Given the description of an element on the screen output the (x, y) to click on. 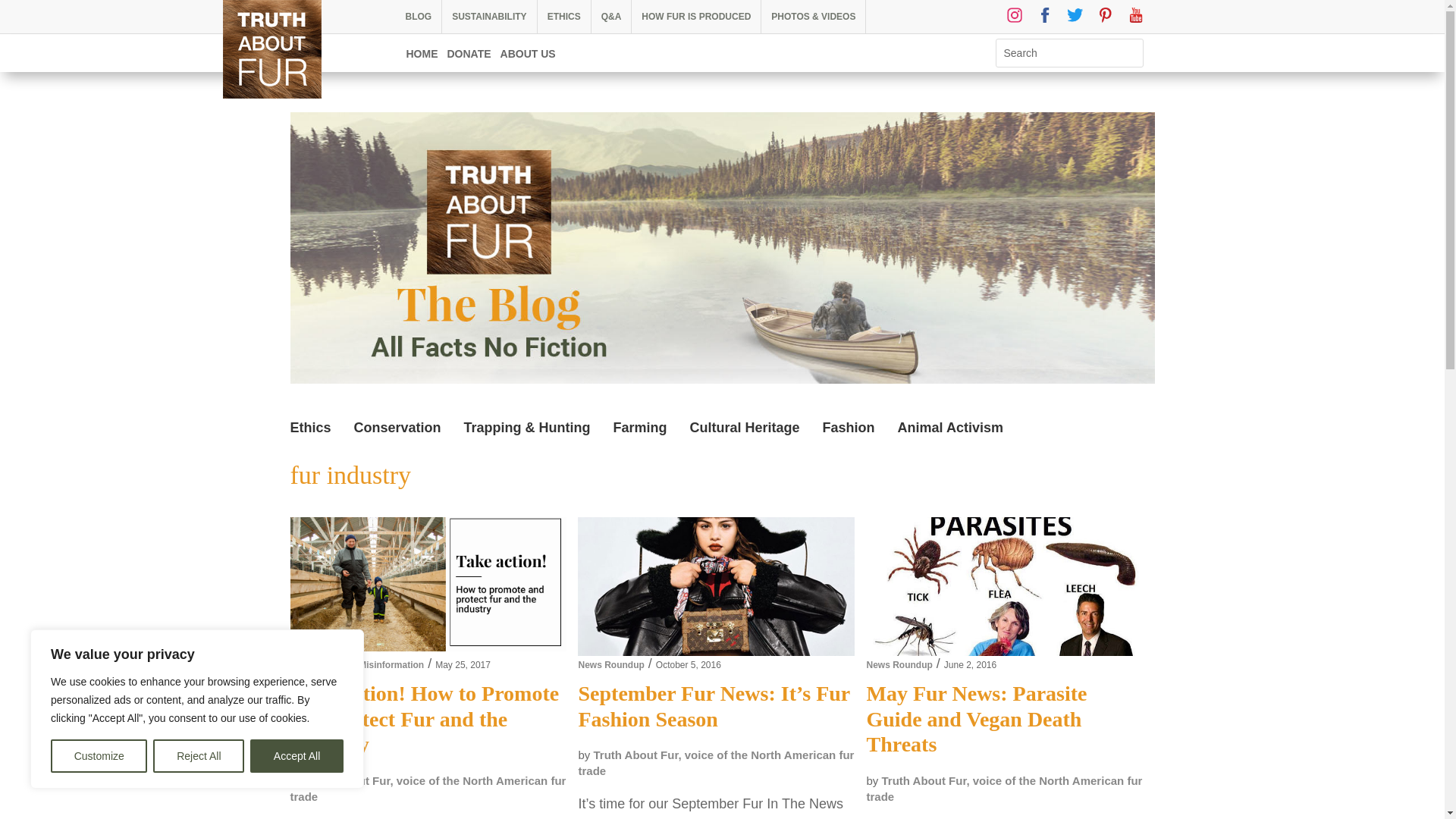
SUSTAINABILITY (488, 16)
truth-about-fur-logo (271, 49)
BLOG (419, 16)
HOW FUR IS PRODUCED (695, 16)
Accept All (296, 756)
Take Action! How to Promote and Protect Fur and the Industry (427, 586)
May Fur News: Parasite Guide and Vegan Death Threats (1004, 585)
Reject All (198, 756)
ETHICS (563, 16)
Customize (98, 756)
